Given the description of an element on the screen output the (x, y) to click on. 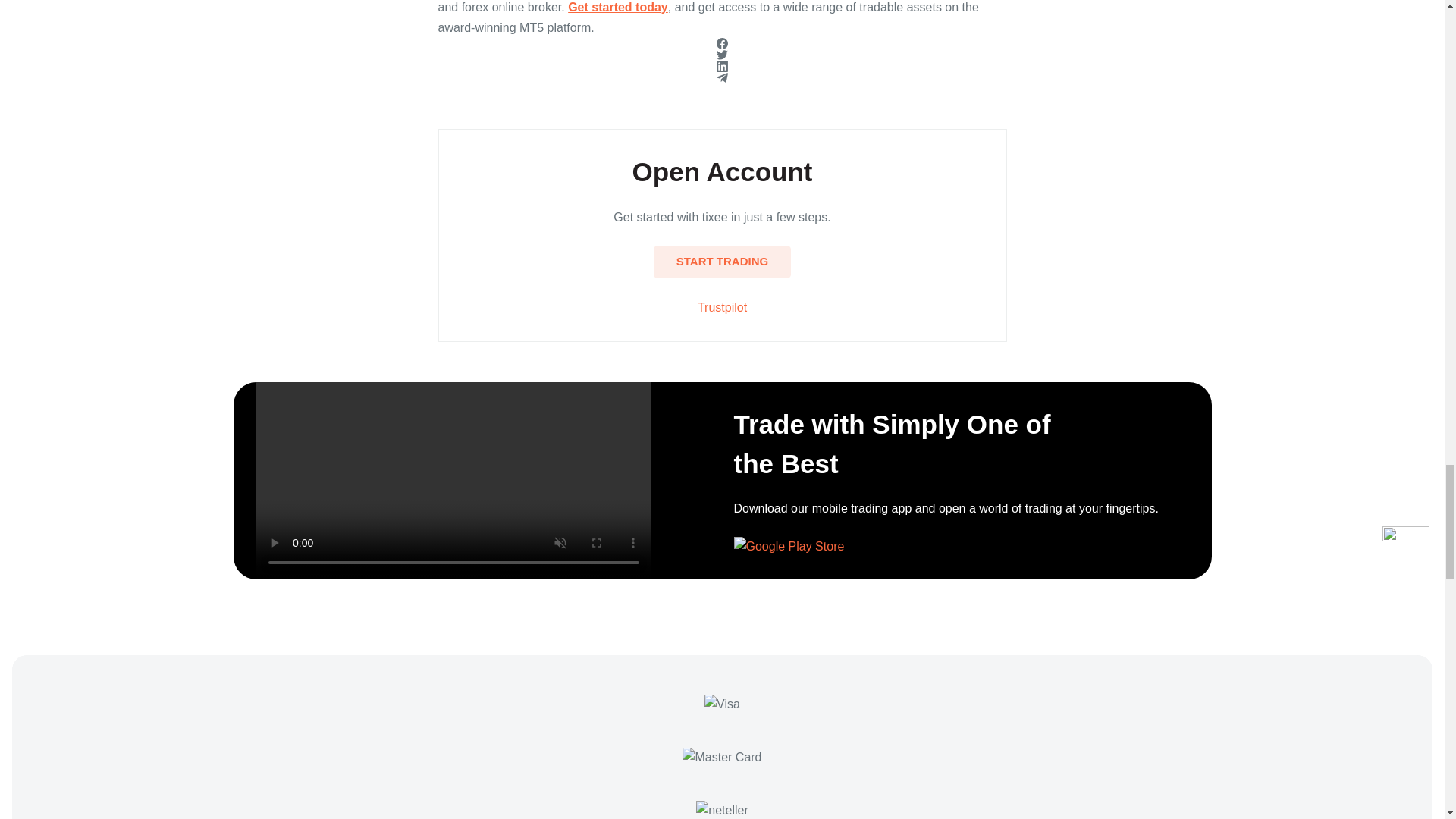
Google Play Store (788, 546)
Visa (721, 704)
neteller (721, 809)
Master Card (721, 757)
